Given the description of an element on the screen output the (x, y) to click on. 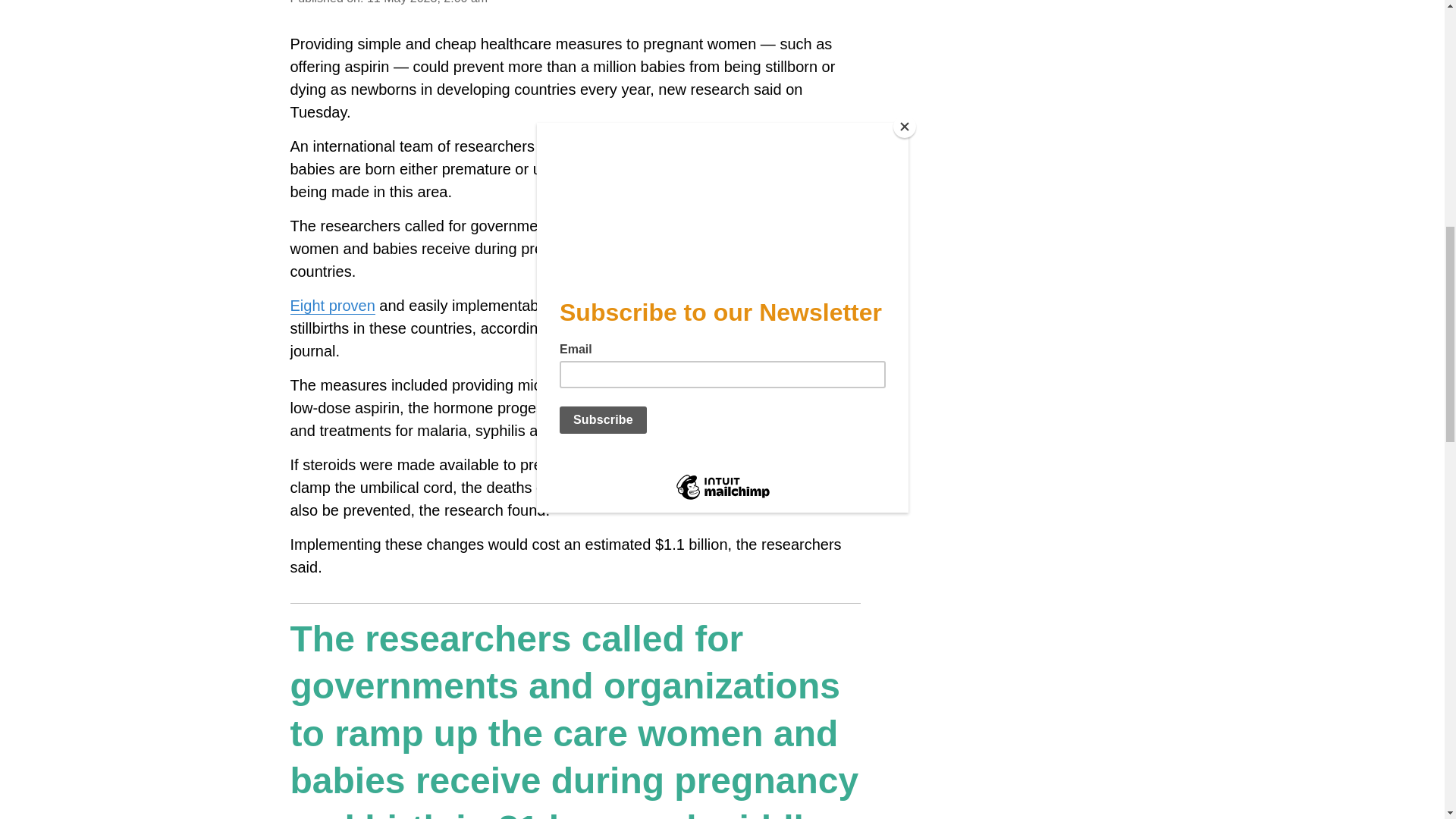
2023-05-10 18:00 (426, 2)
